Given the description of an element on the screen output the (x, y) to click on. 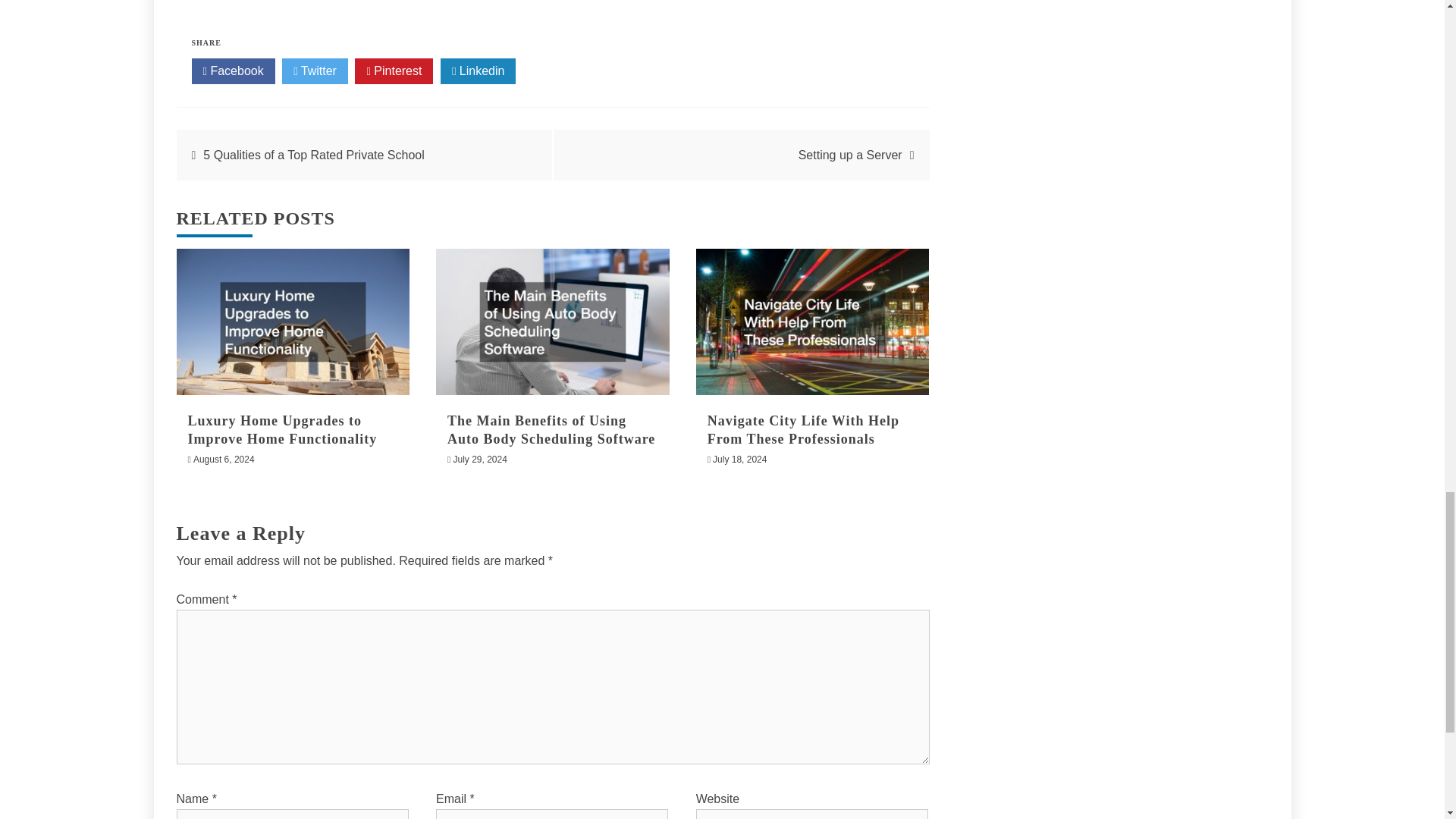
August 6, 2024 (223, 459)
Setting up a Server (849, 154)
Pinterest (393, 71)
5 Qualities of a Top Rated Private School (313, 154)
The Main Benefits of Using Auto Body Scheduling Software (550, 429)
Luxury Home Upgrades to Improve Home Functionality (282, 429)
Twitter (314, 71)
Navigate City Life With Help From These Professionals (803, 429)
July 29, 2024 (479, 459)
Facebook (232, 71)
